Given the description of an element on the screen output the (x, y) to click on. 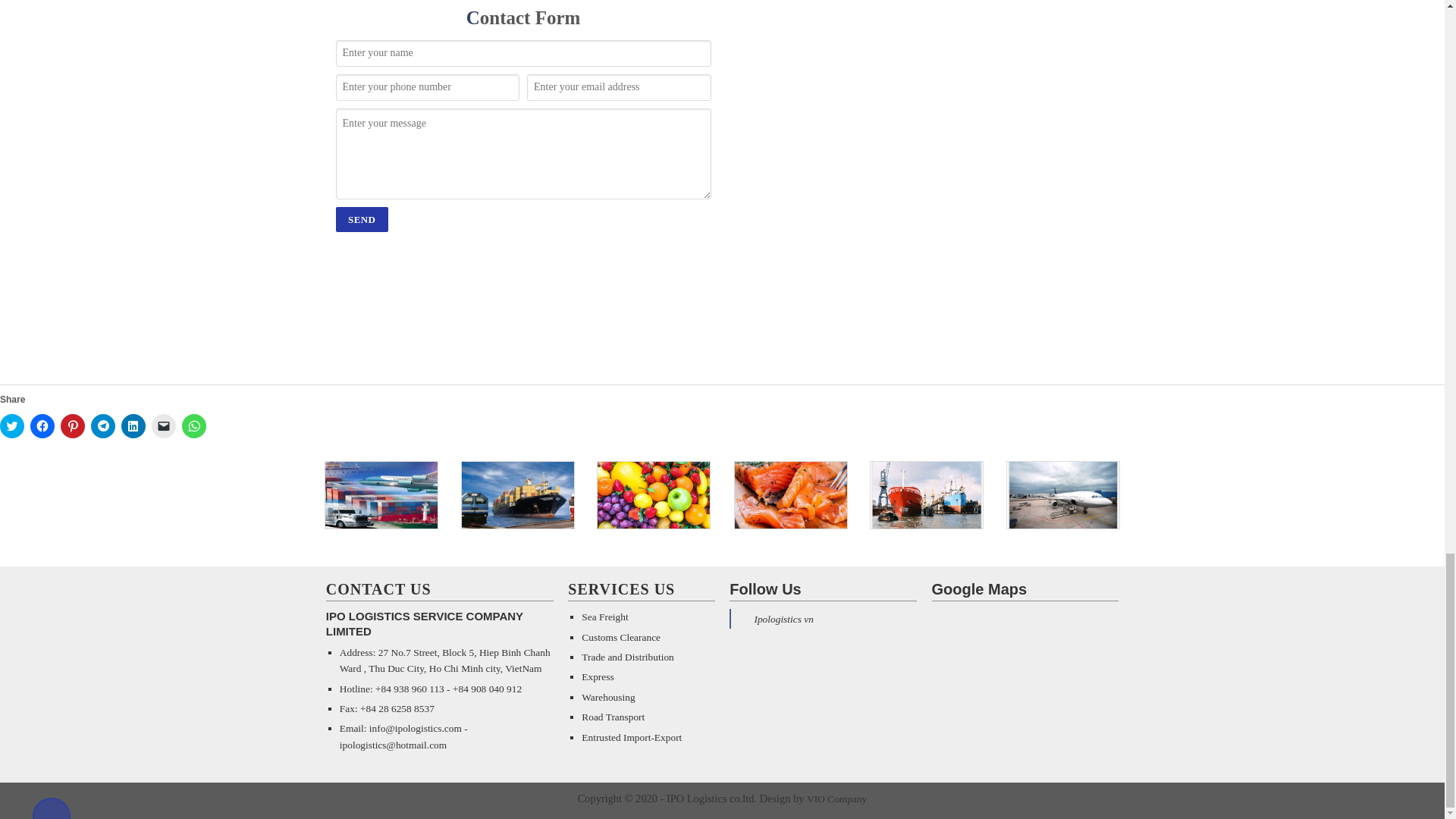
Click to share on Pinterest (72, 426)
Click to email a link to a friend (163, 426)
Send (360, 219)
Click to share on LinkedIn (132, 426)
Click to share on Telegram (102, 426)
Click to share on Facebook (42, 426)
Click to share on Twitter (12, 426)
Send (360, 219)
Click to share on WhatsApp (194, 426)
